Given the description of an element on the screen output the (x, y) to click on. 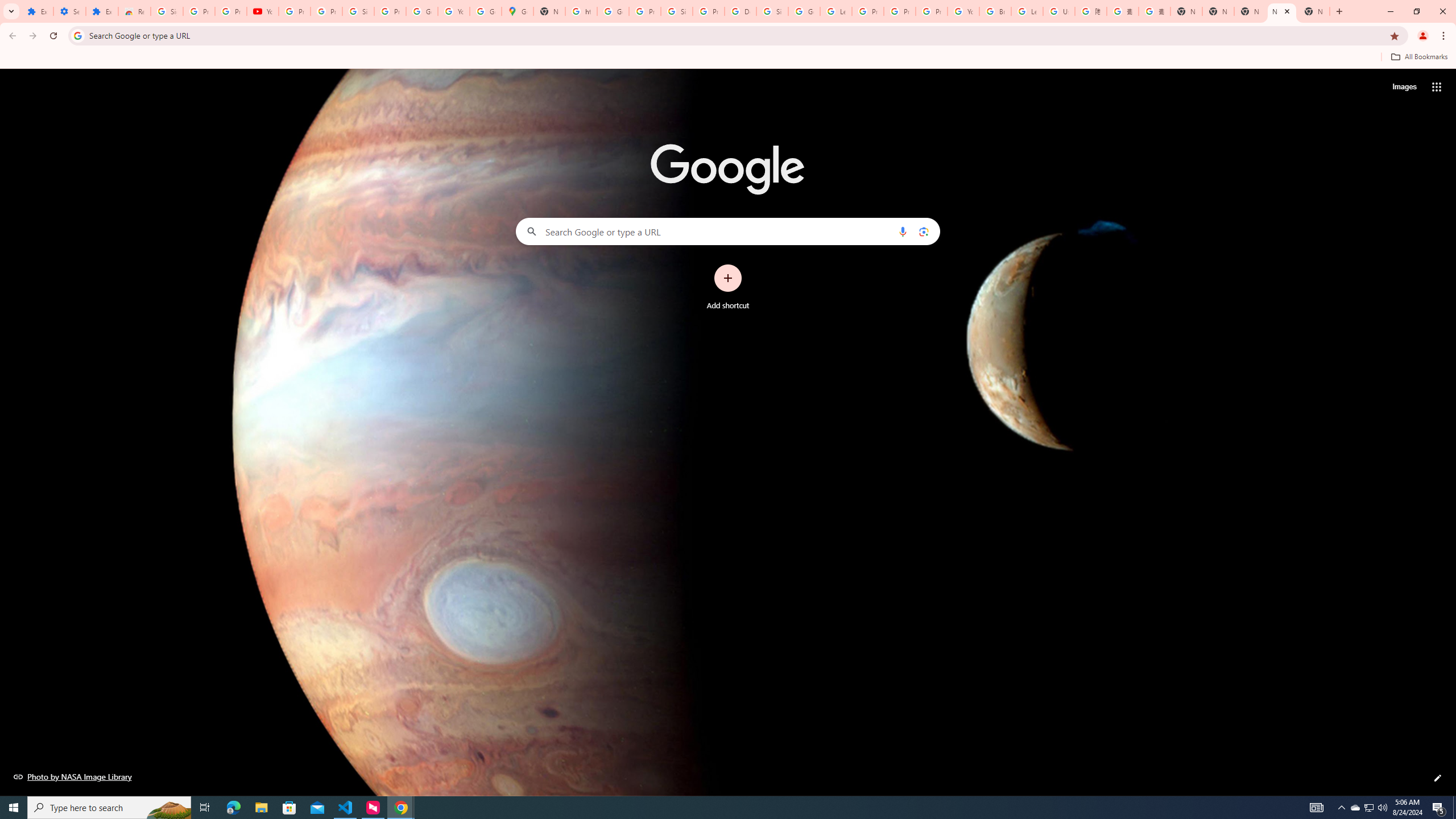
New Tab (1185, 11)
https://scholar.google.com/ (581, 11)
Photo by NASA Image Library (72, 776)
